Given the description of an element on the screen output the (x, y) to click on. 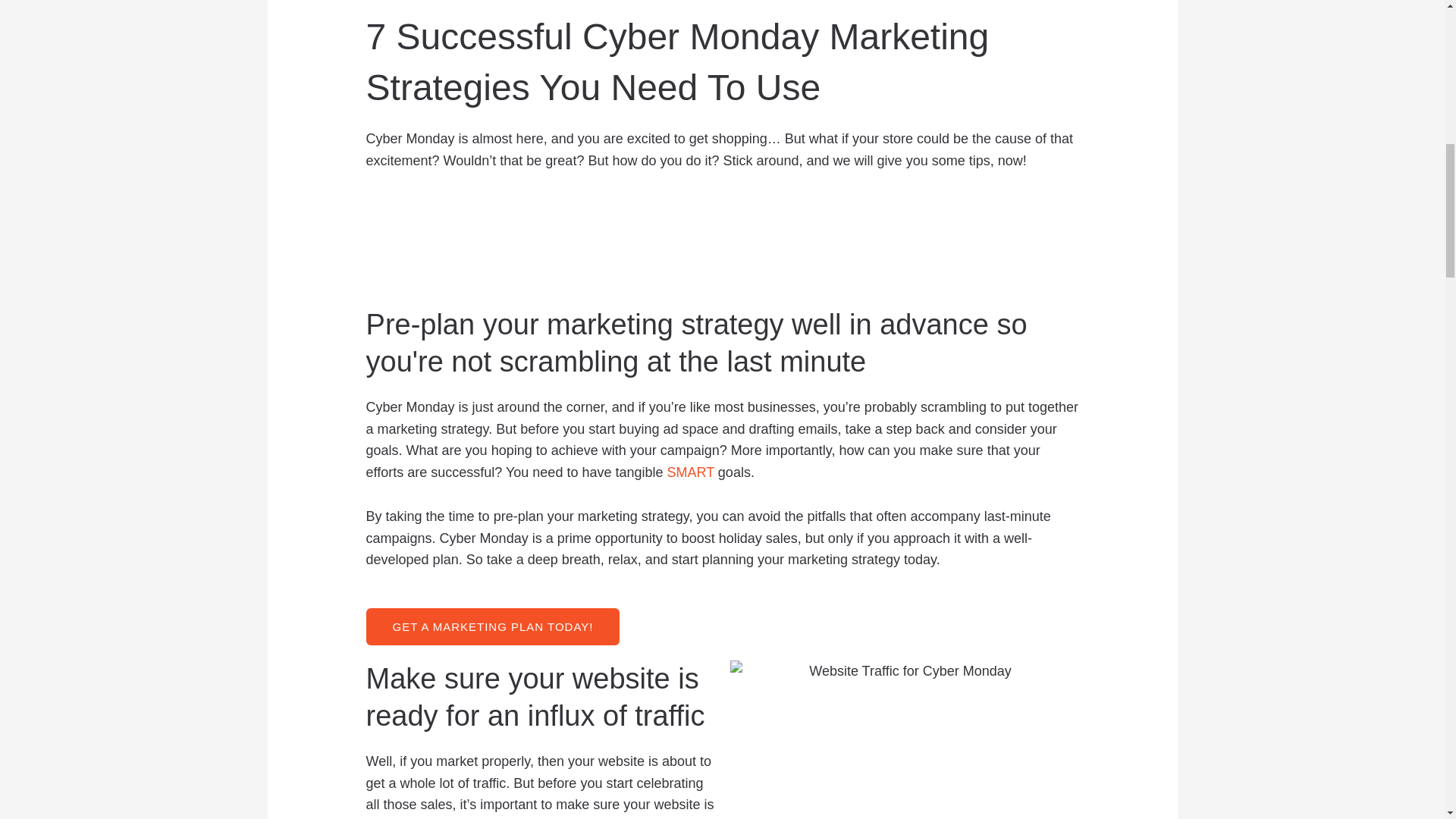
GET A MARKETING PLAN TODAY! (493, 626)
SMART (690, 472)
